Given the description of an element on the screen output the (x, y) to click on. 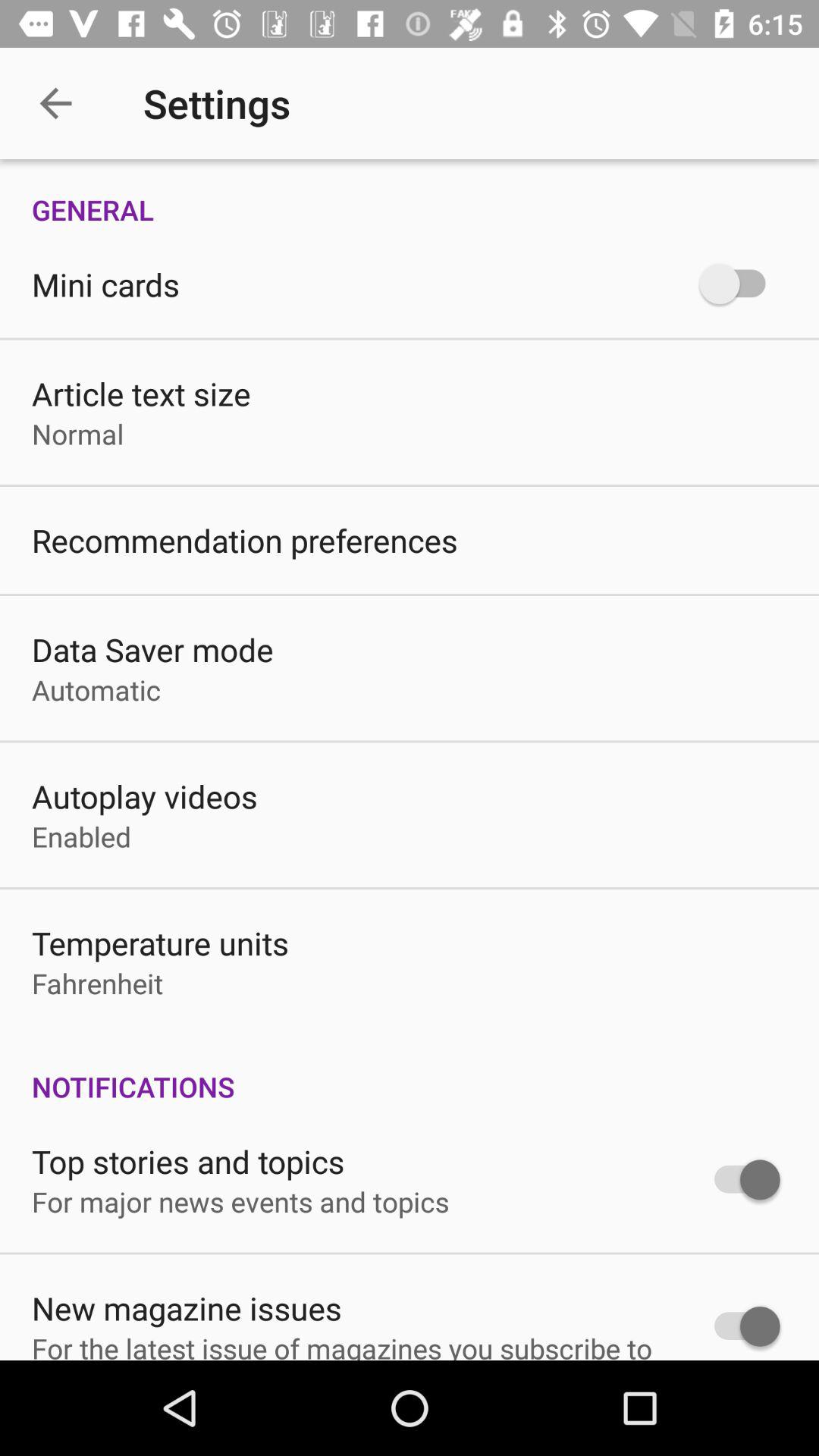
turn on icon below the new magazine issues icon (341, 1344)
